Given the description of an element on the screen output the (x, y) to click on. 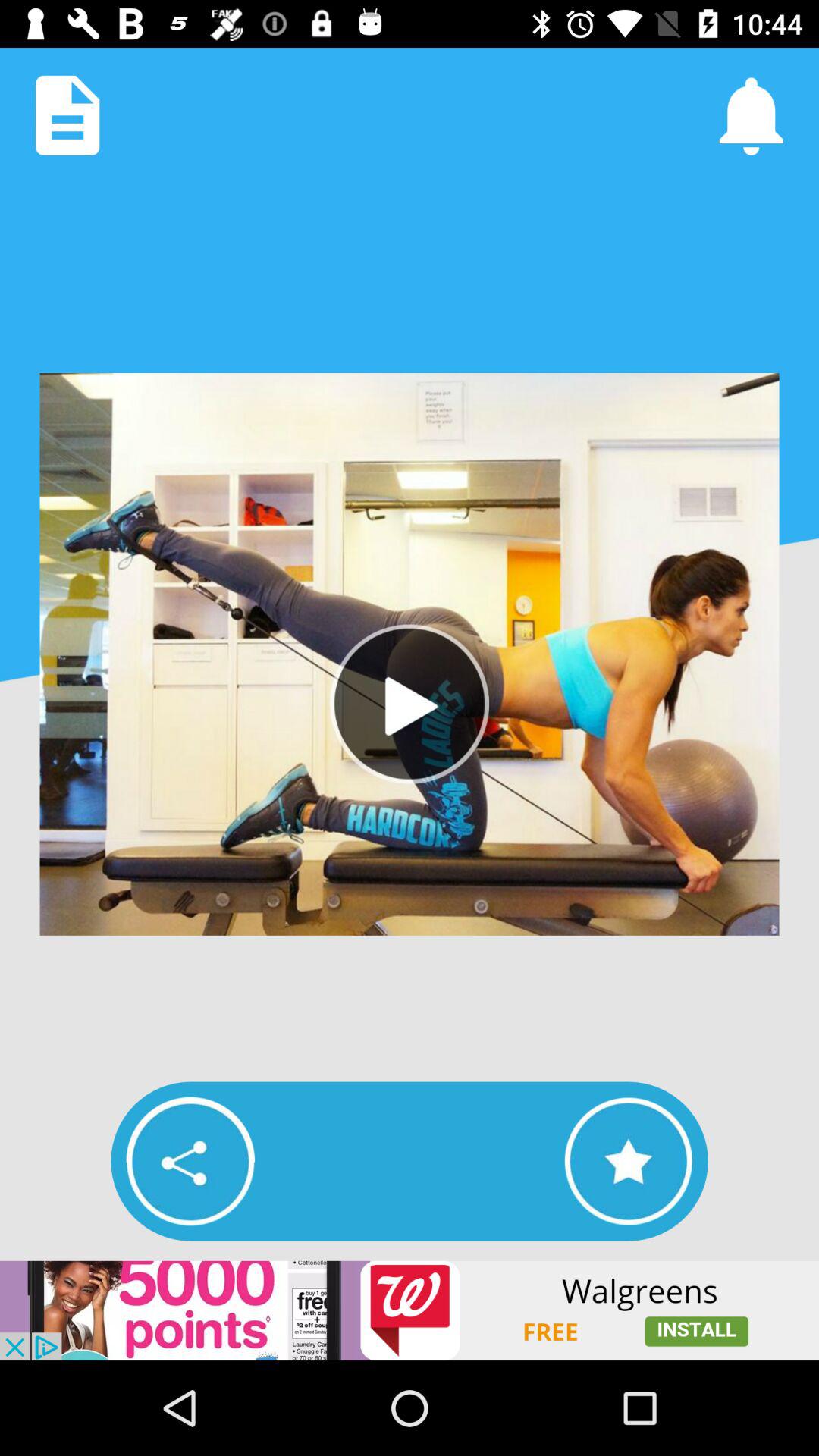
play video (409, 703)
